Given the description of an element on the screen output the (x, y) to click on. 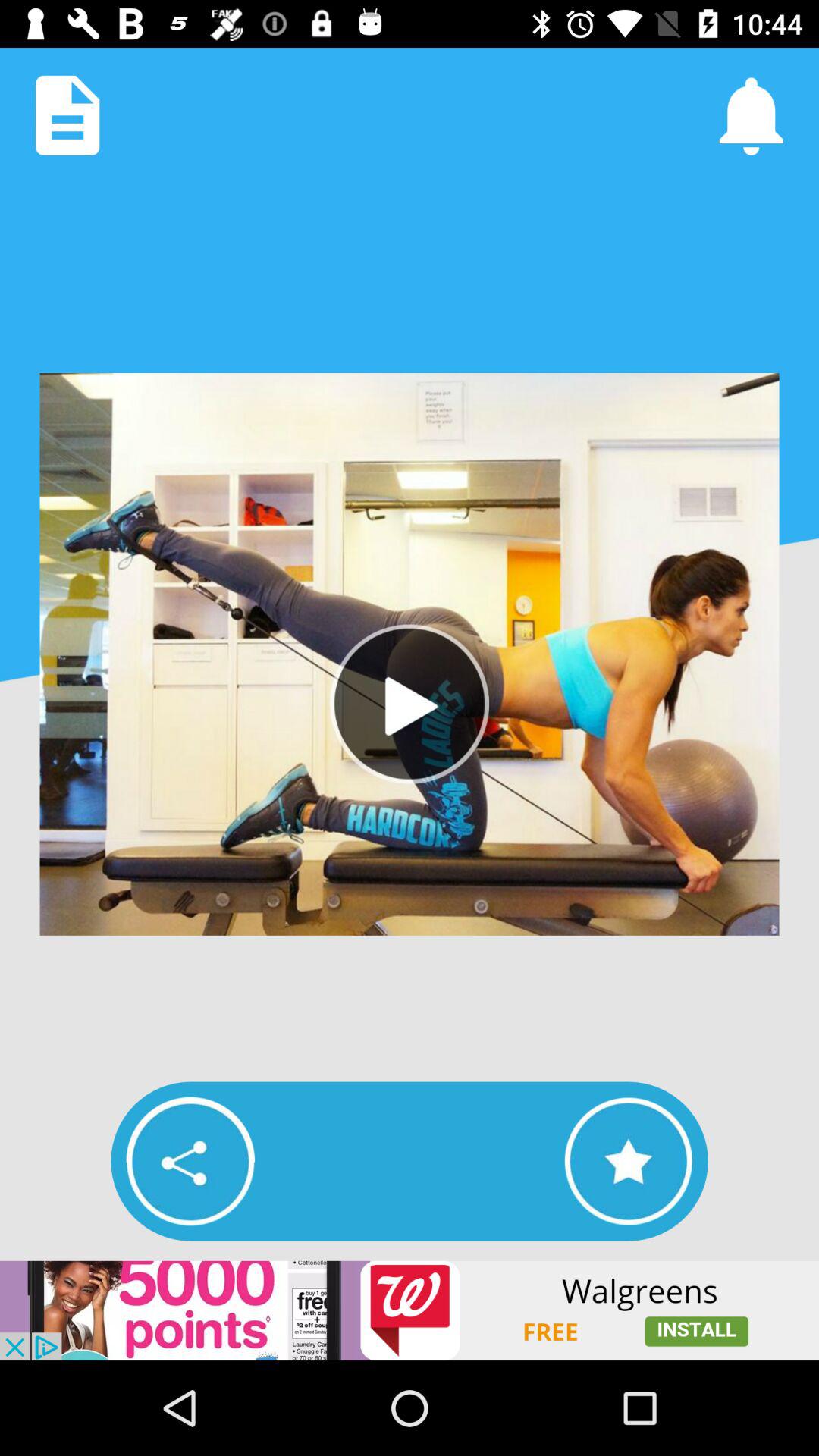
play video (409, 703)
